Given the description of an element on the screen output the (x, y) to click on. 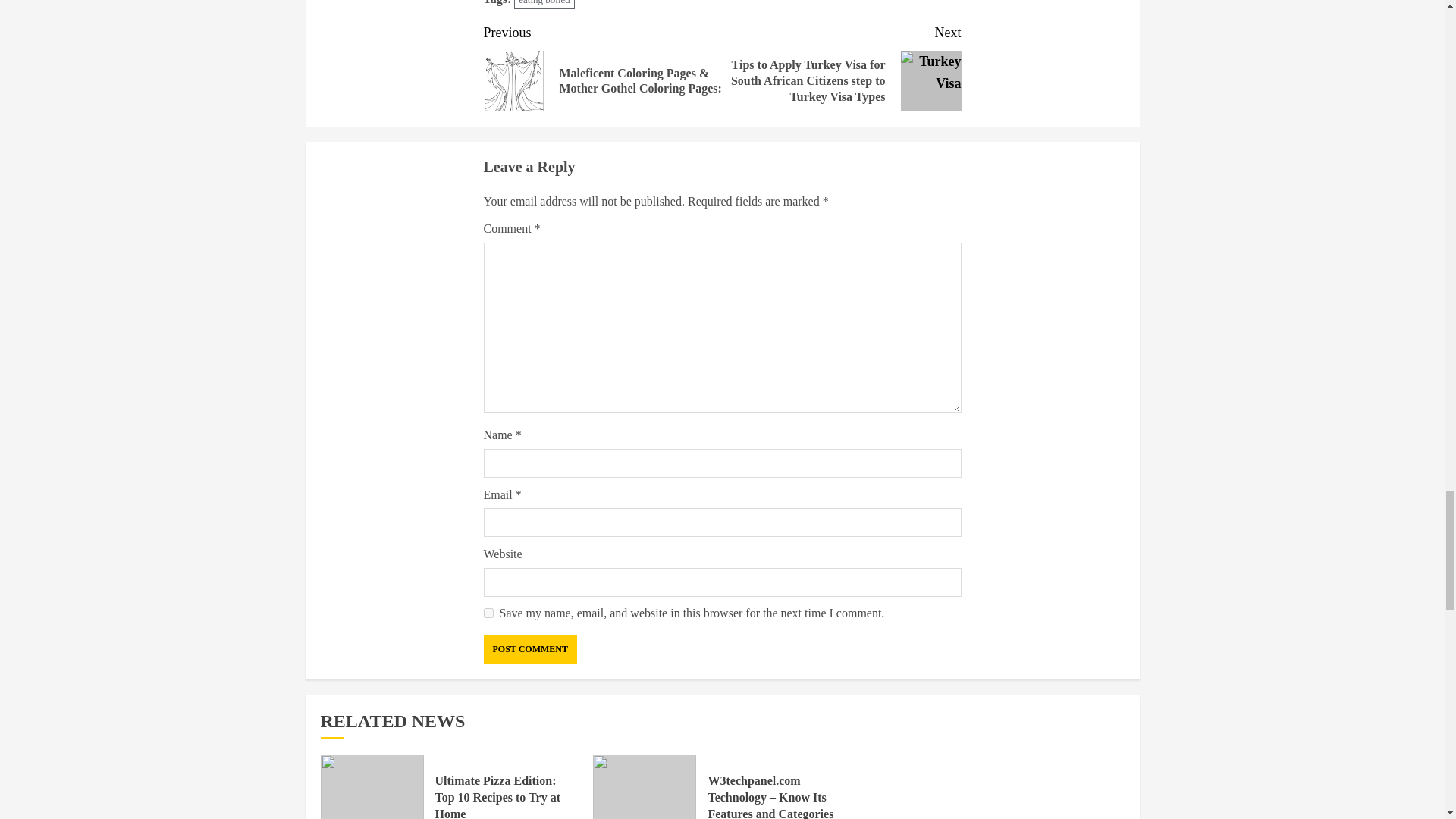
Post Comment (529, 649)
Ultimate Pizza Edition: Top 10 Recipes to Try at Home (497, 796)
yes (488, 613)
Post Comment (529, 649)
eating boiled (544, 4)
